Given the description of an element on the screen output the (x, y) to click on. 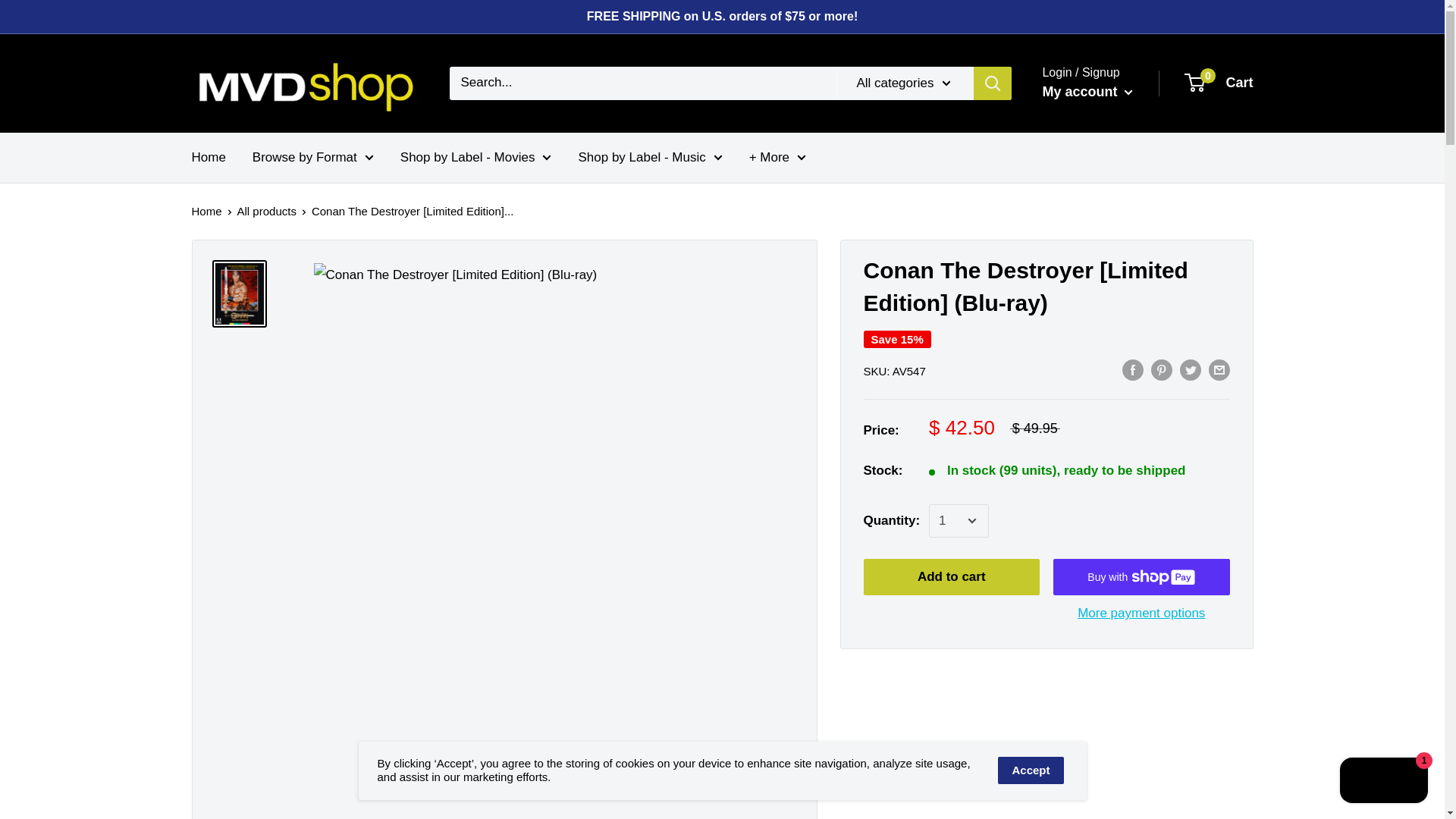
Shopify online store chat (1383, 781)
